Given the description of an element on the screen output the (x, y) to click on. 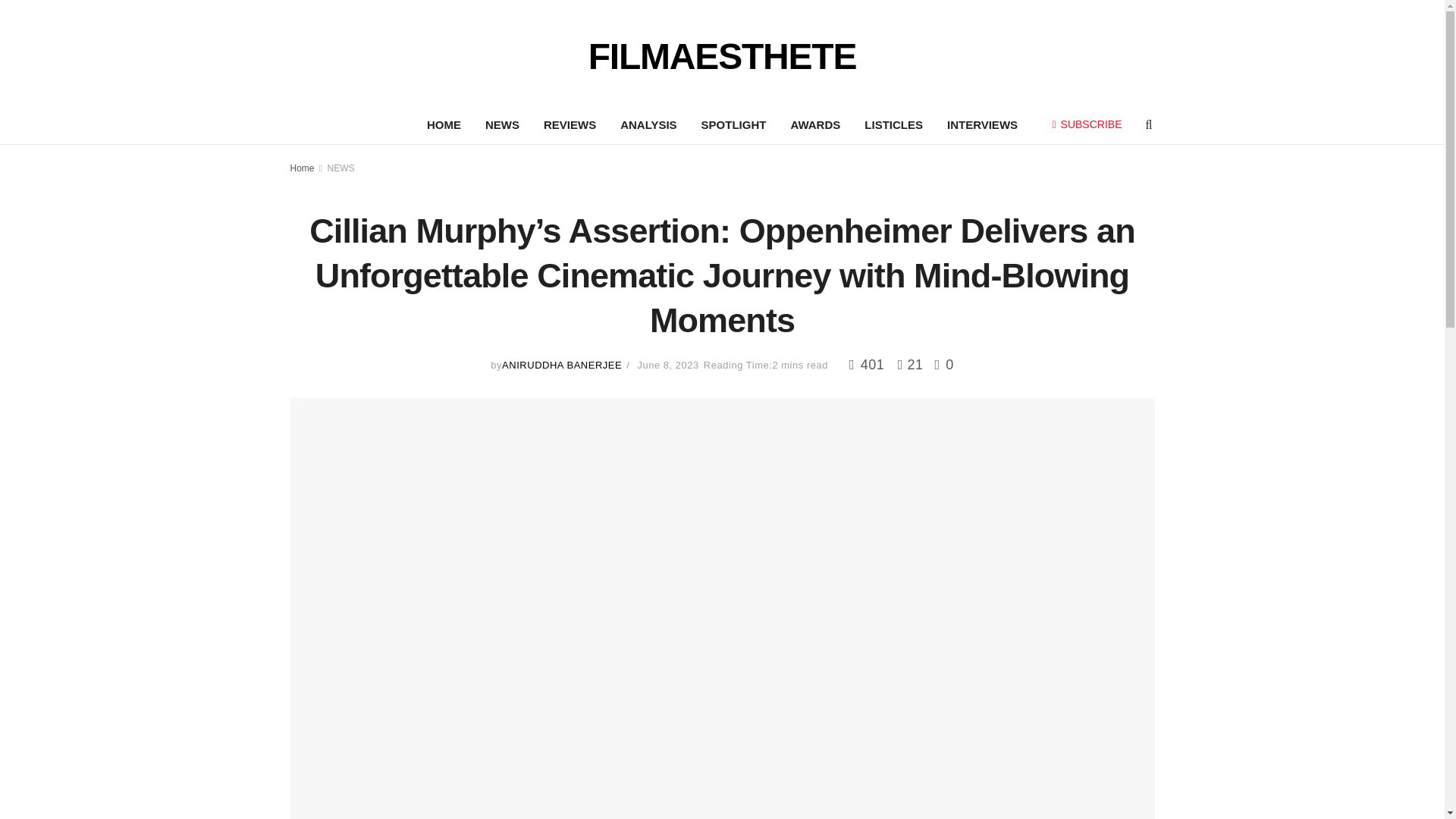
21 (905, 364)
401 (868, 364)
FILMAESTHETE (722, 53)
0 (943, 364)
NEWS (341, 167)
NEWS (502, 125)
SPOTLIGHT (733, 125)
REVIEWS (569, 125)
ANIRUDDHA BANERJEE (561, 365)
SUBSCRIBE (1087, 123)
LISTICLES (892, 125)
June 8, 2023 (667, 365)
ANALYSIS (648, 125)
INTERVIEWS (981, 125)
Home (301, 167)
